Given the description of an element on the screen output the (x, y) to click on. 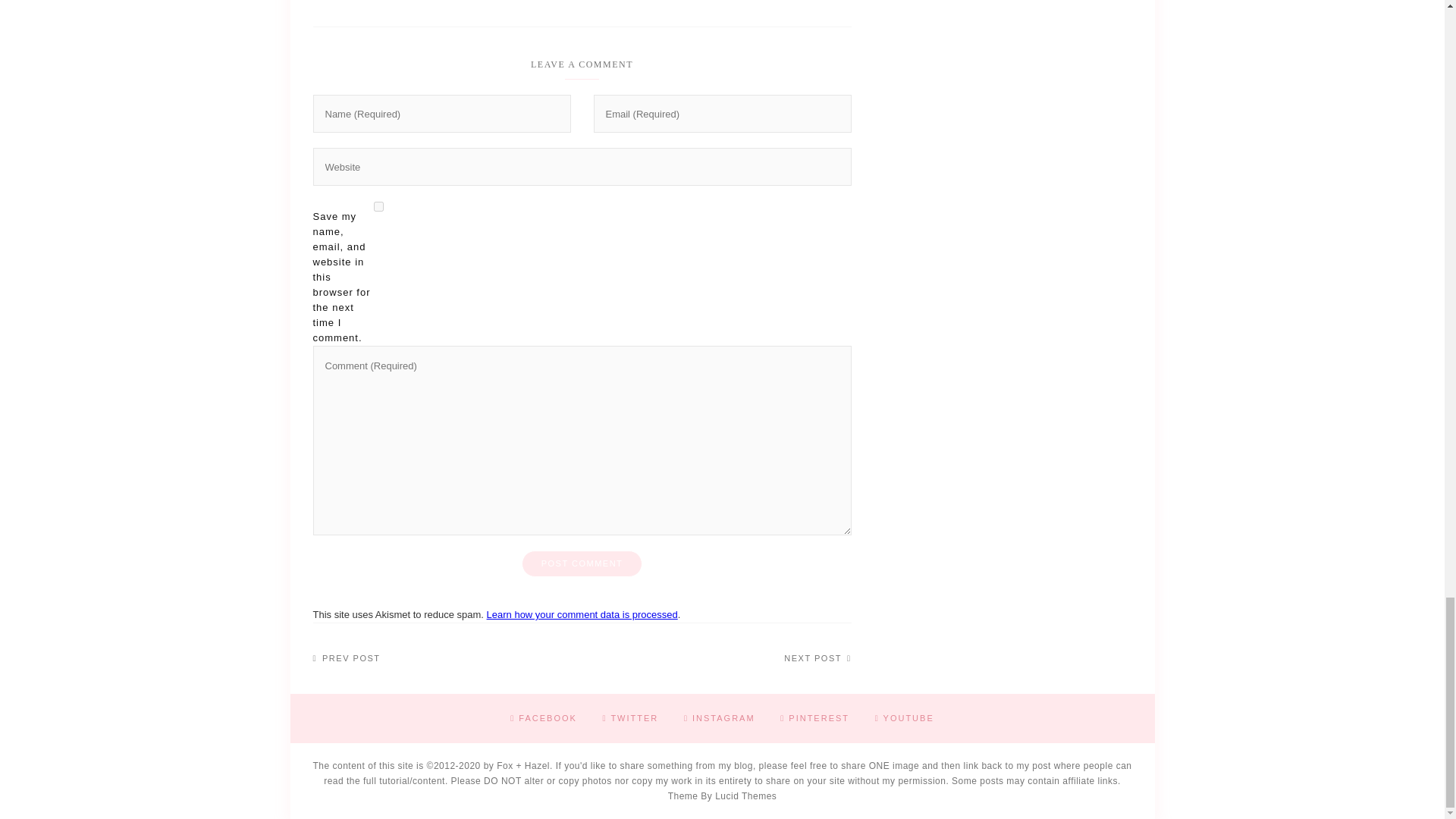
yes (377, 206)
Post Comment (582, 563)
PINTEREST (814, 717)
PREV POST (346, 658)
INSTAGRAM (719, 717)
TWITTER (630, 717)
FACEBOOK (543, 717)
Post Comment (582, 563)
Learn how your comment data is processed (582, 614)
NEXT POST (817, 658)
